Given the description of an element on the screen output the (x, y) to click on. 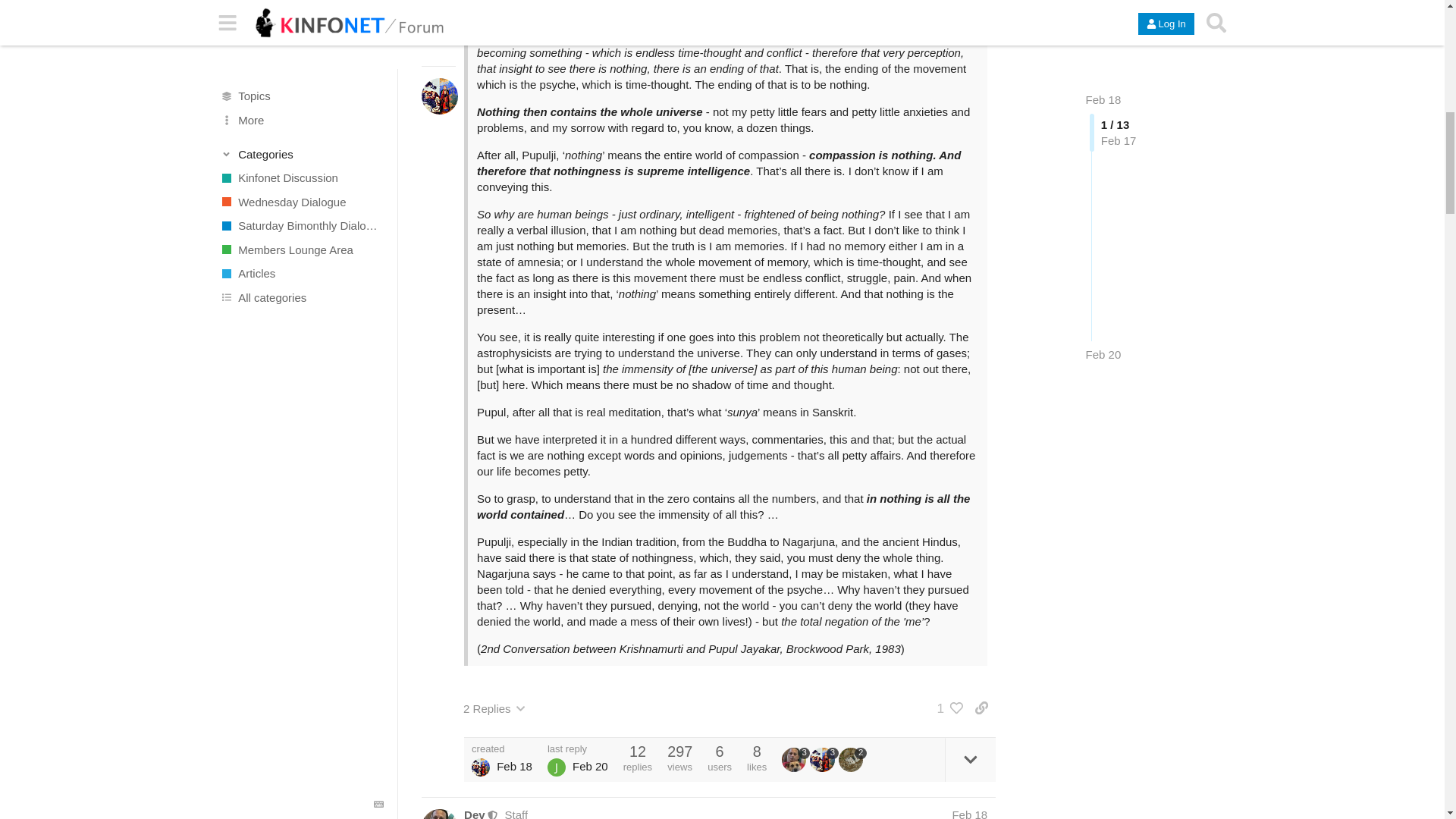
3 (823, 759)
2 Replies (493, 708)
2 (852, 759)
Dev (474, 812)
last reply (577, 748)
3 (795, 759)
Feb 18 (969, 813)
copy a link to this post to clipboard (981, 708)
1 person liked this post (946, 708)
1 (946, 708)
